Given the description of an element on the screen output the (x, y) to click on. 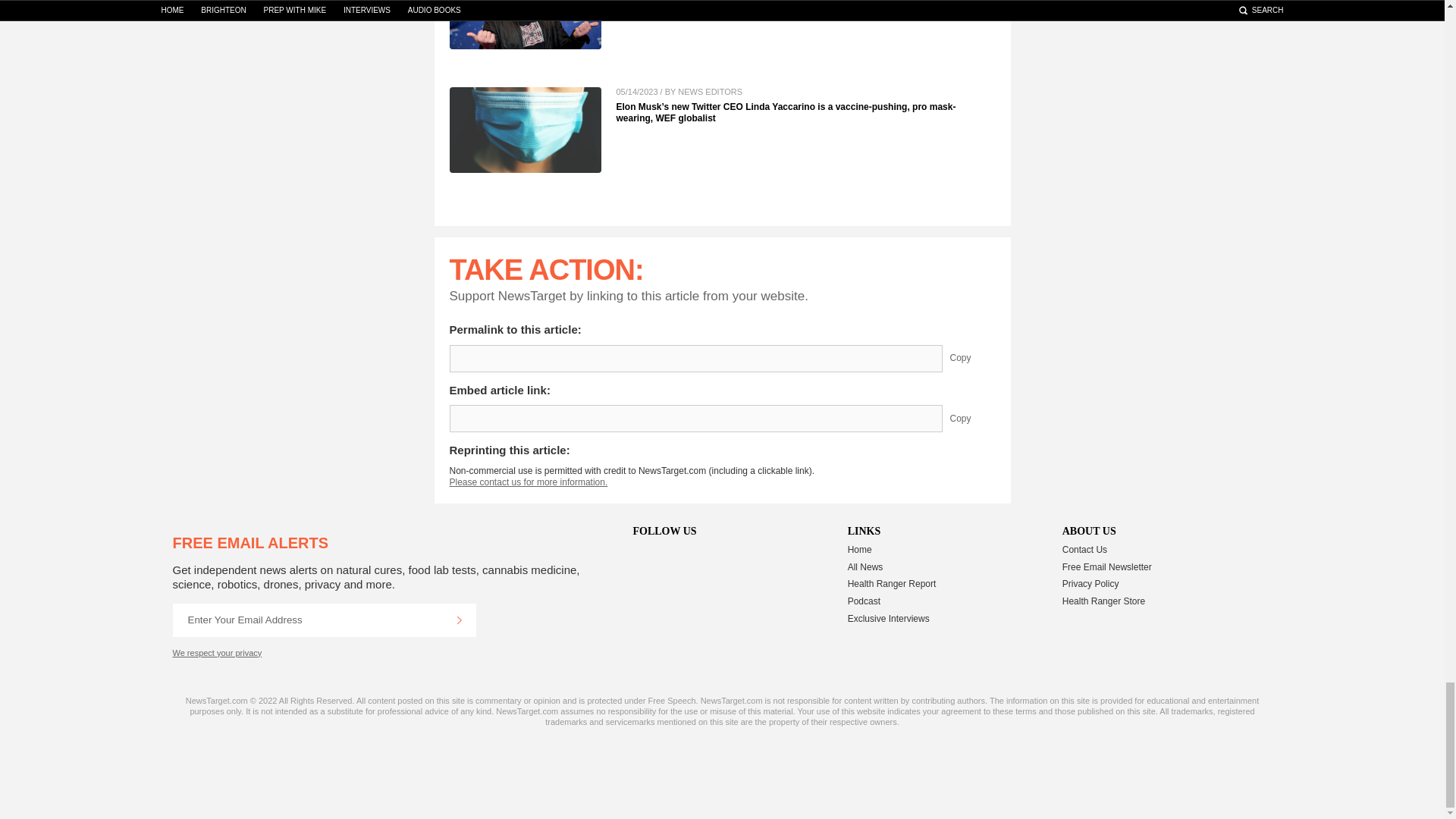
Continue (459, 620)
Copy Permalink (971, 358)
Copy Embed Link (971, 418)
